Given the description of an element on the screen output the (x, y) to click on. 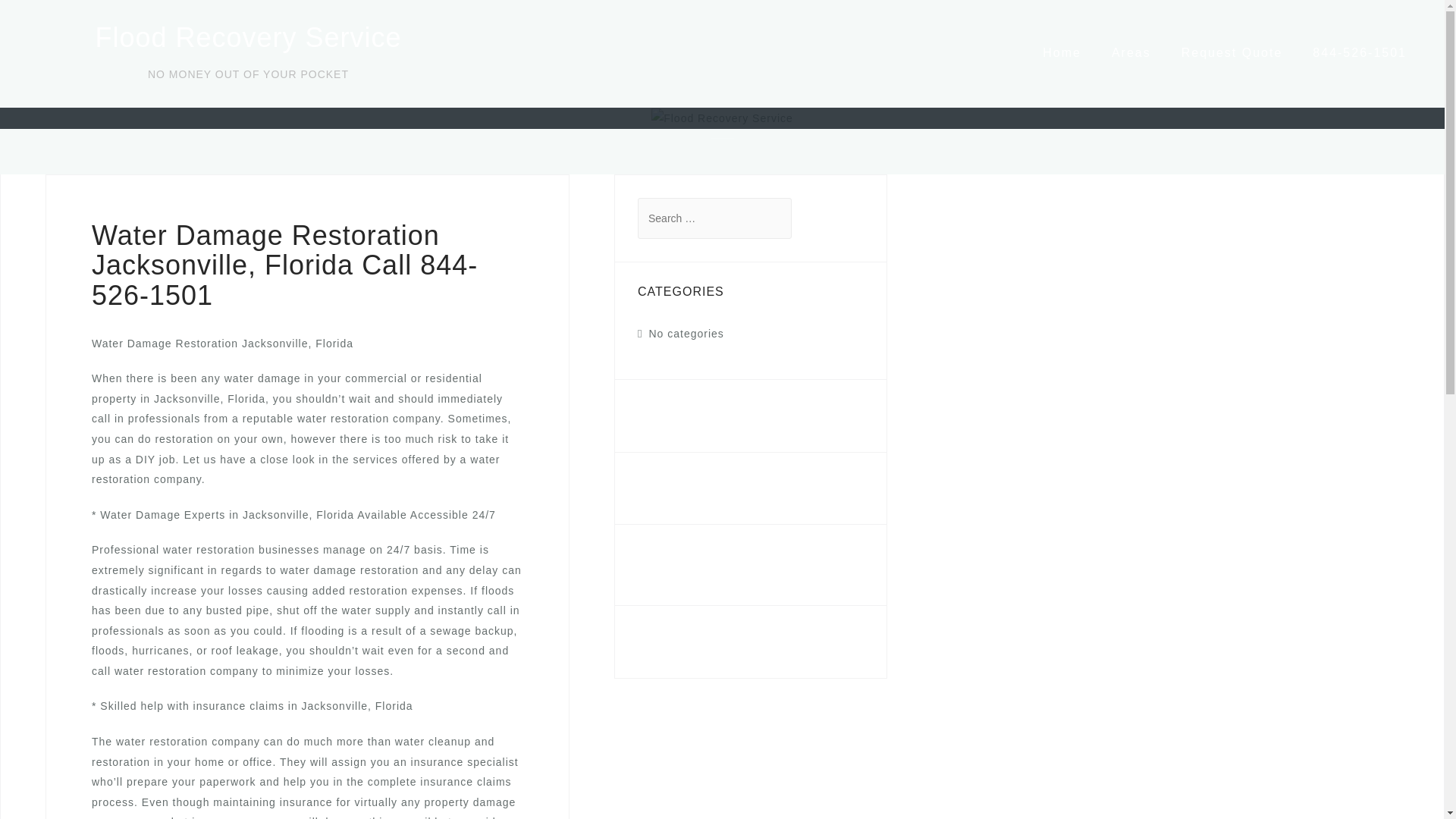
844-526-1501 (1359, 52)
844-526-1501 (675, 557)
Flood Recovery Service (247, 37)
Request Quote (1231, 52)
Areas (1131, 52)
OUR BLOG (676, 415)
Home (1061, 52)
LOCATIONS (679, 488)
Search (54, 20)
REQUEST A QUOTE (707, 641)
